Given the description of an element on the screen output the (x, y) to click on. 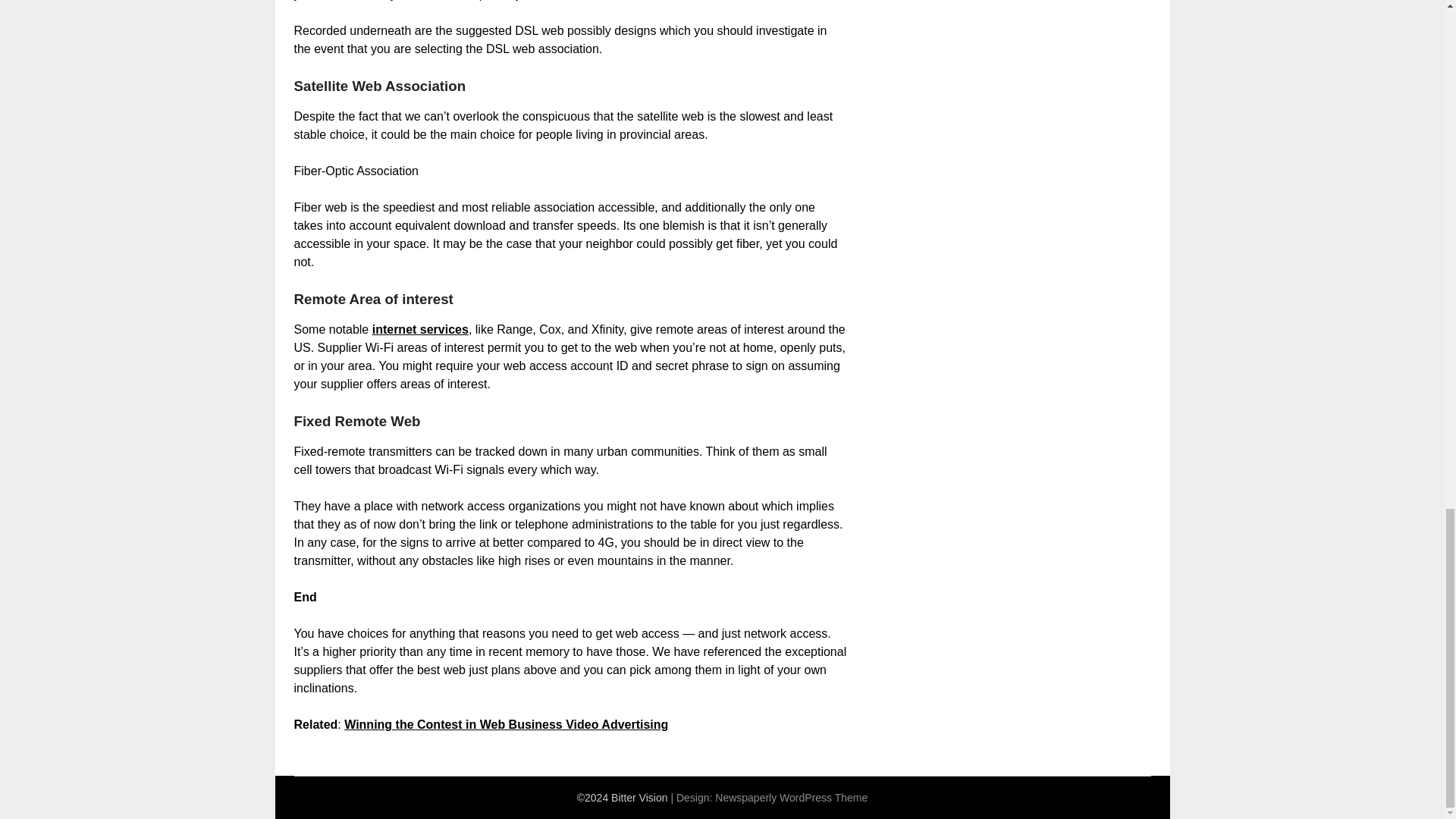
Newspaperly WordPress Theme (790, 797)
internet services (420, 328)
Winning the Contest in Web Business Video Advertising (505, 724)
